Given the description of an element on the screen output the (x, y) to click on. 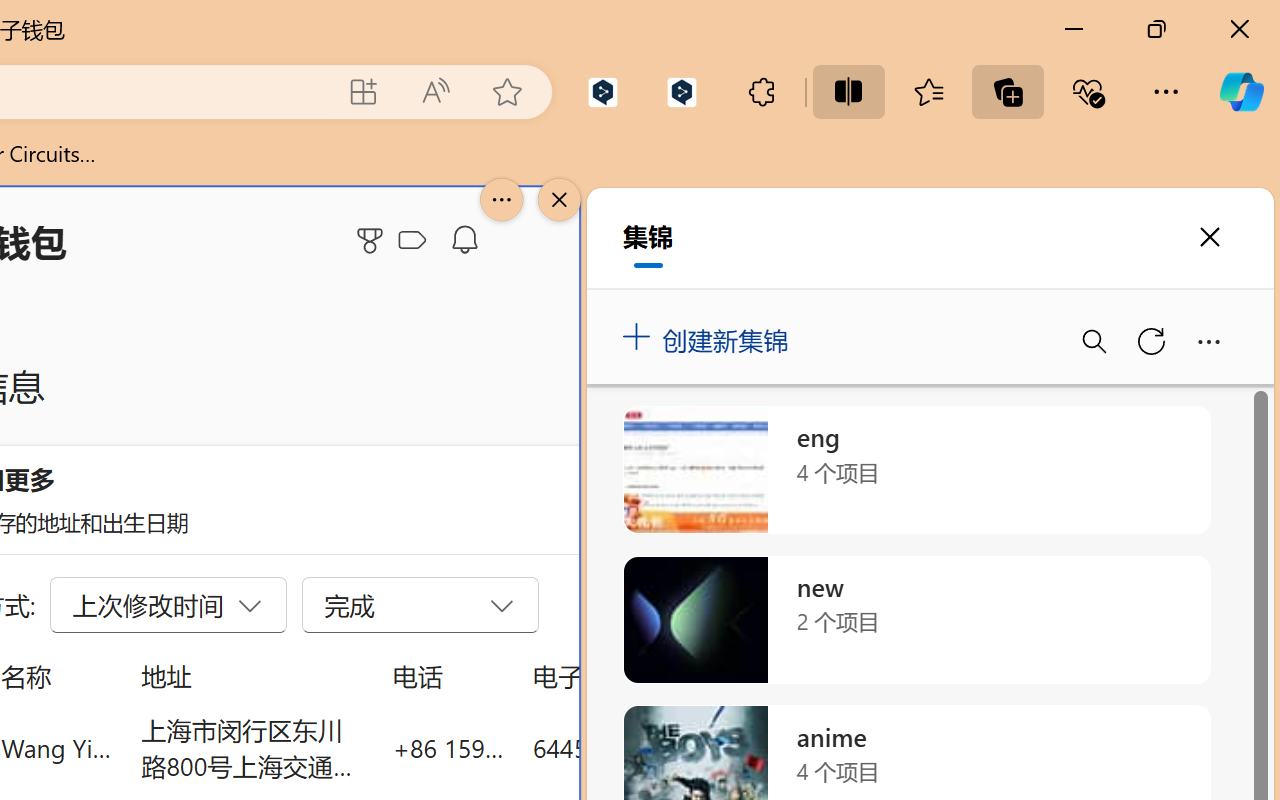
644553698@qq.com (644, 747)
Microsoft Cashback (415, 241)
